Given the description of an element on the screen output the (x, y) to click on. 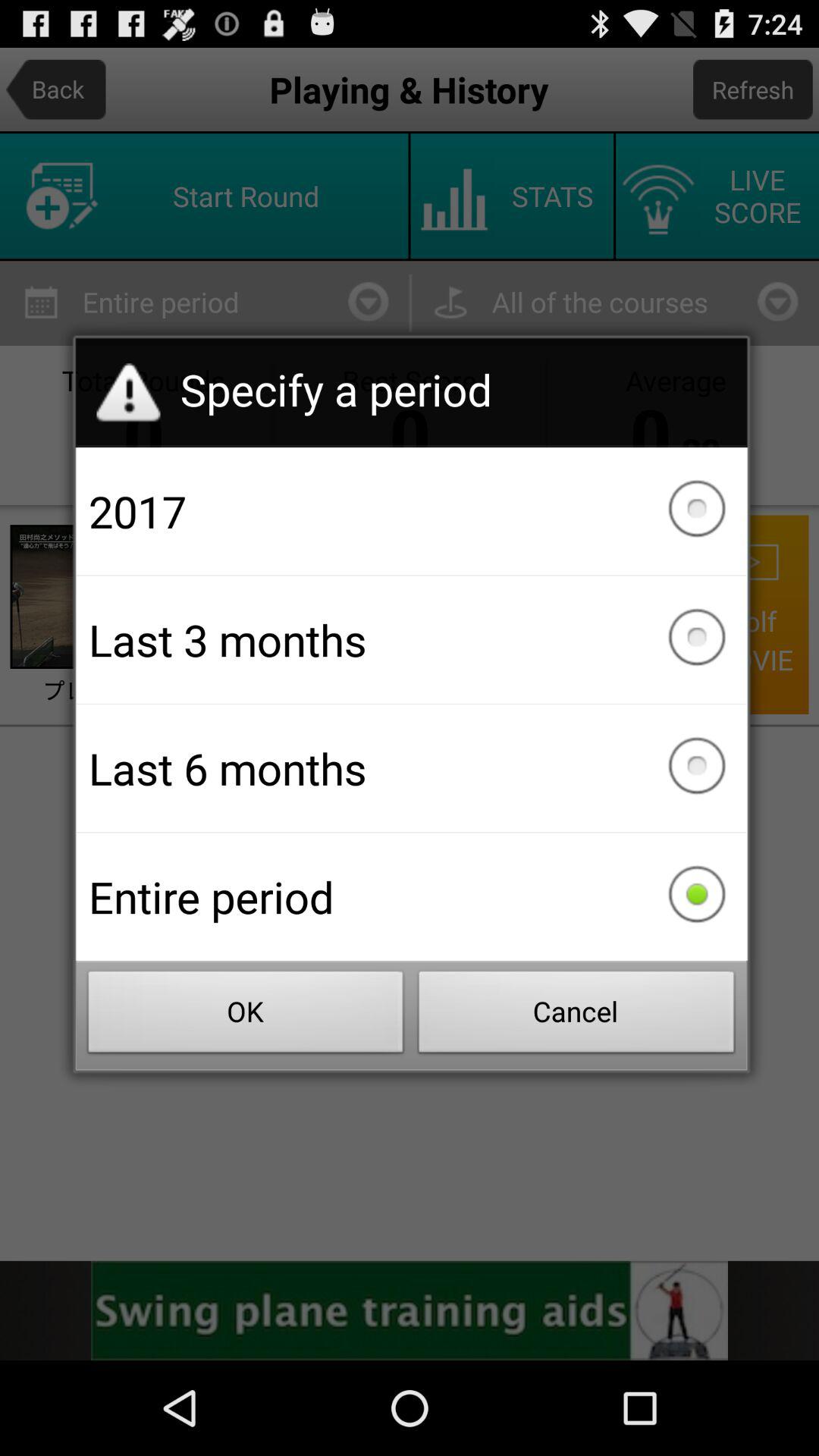
click the icon at the bottom right corner (576, 1016)
